Given the description of an element on the screen output the (x, y) to click on. 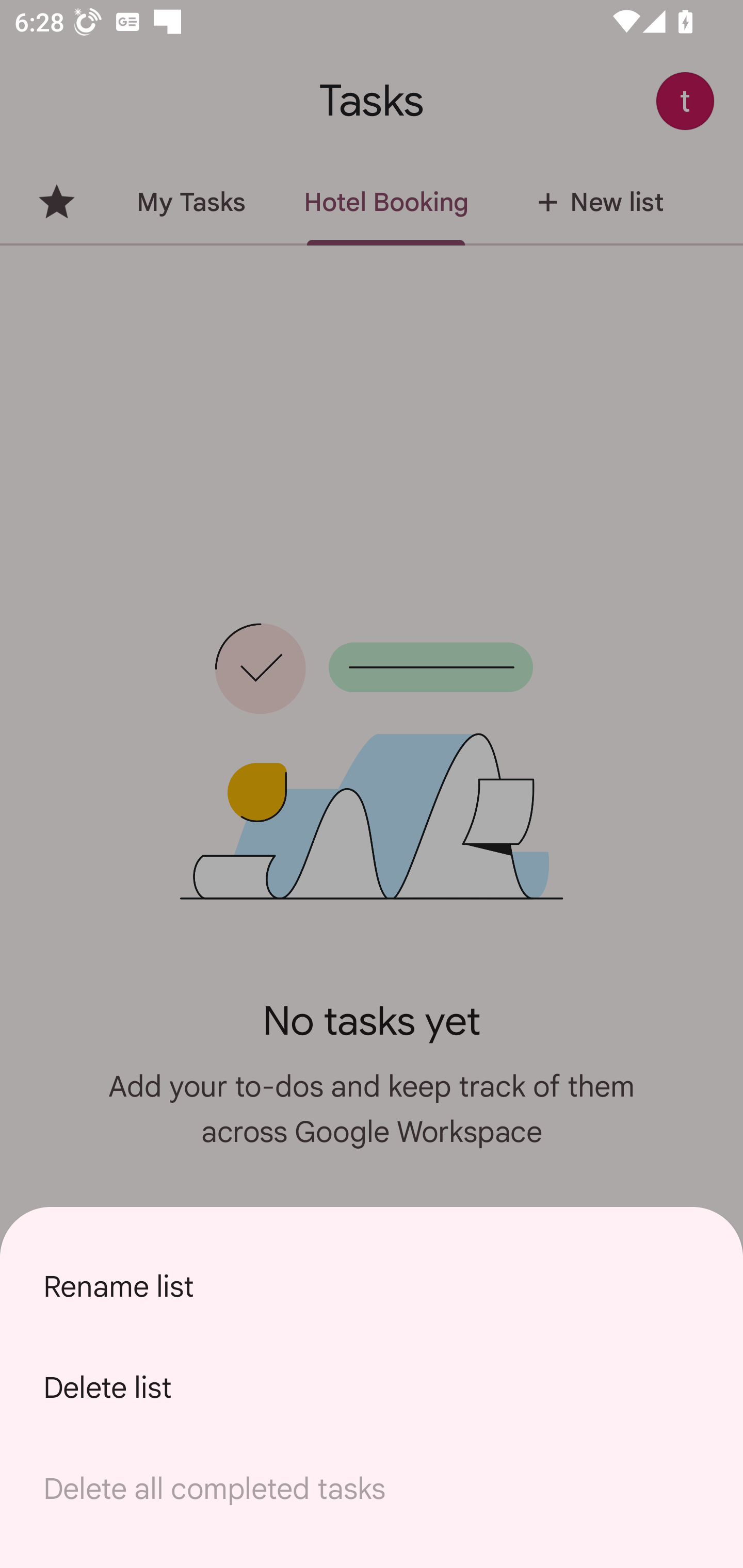
Rename list (371, 1286)
Delete list (371, 1387)
Delete all completed tasks (371, 1488)
